Given the description of an element on the screen output the (x, y) to click on. 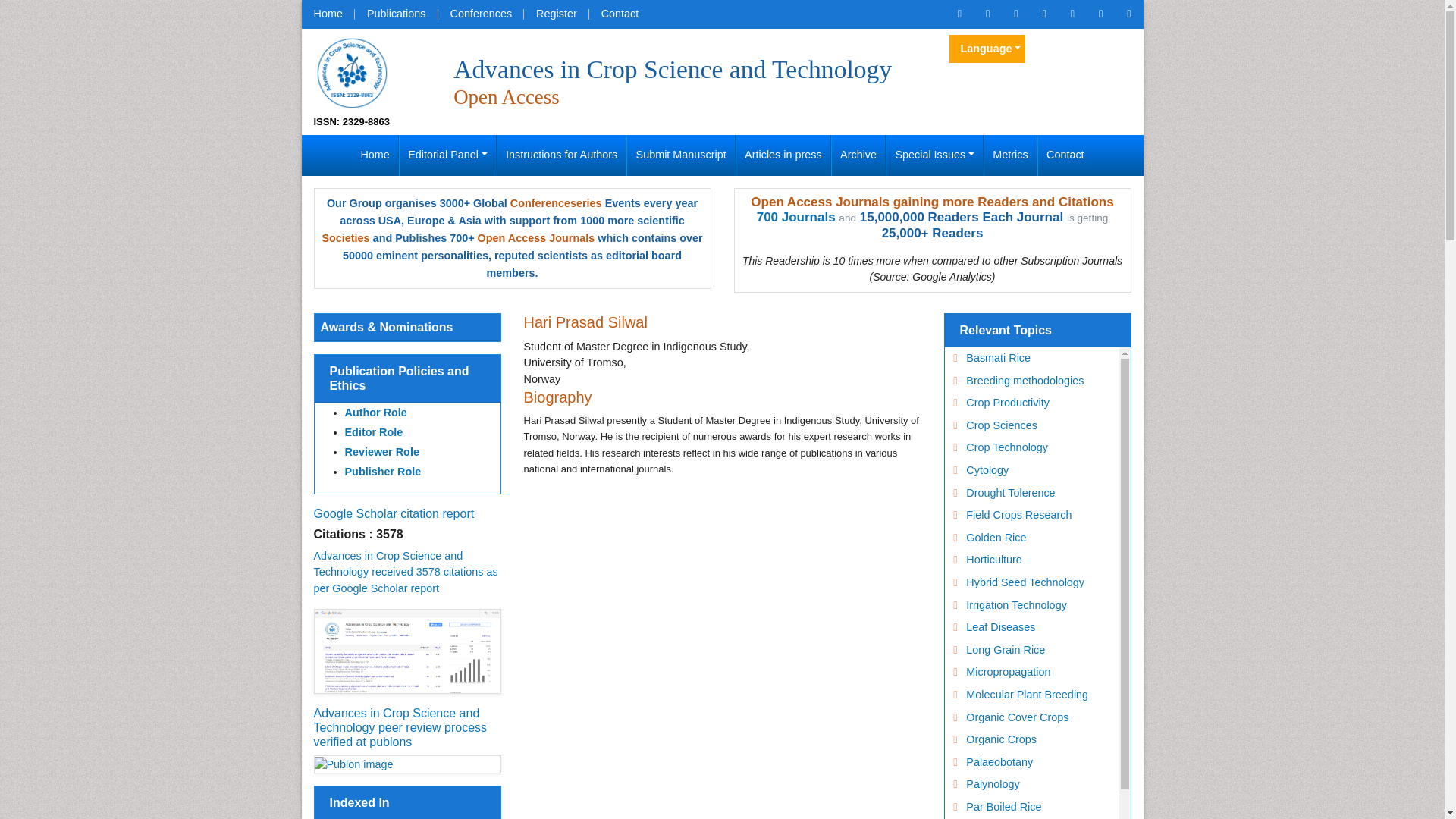
Editorial Panel (447, 155)
Open Access Journals (536, 237)
Articles in press (782, 155)
Contact (619, 14)
Conferenceseries (556, 203)
Home (328, 14)
Conferences (481, 14)
Home (328, 14)
Omics LinkedIn (1043, 14)
Special Issues (934, 155)
